Given the description of an element on the screen output the (x, y) to click on. 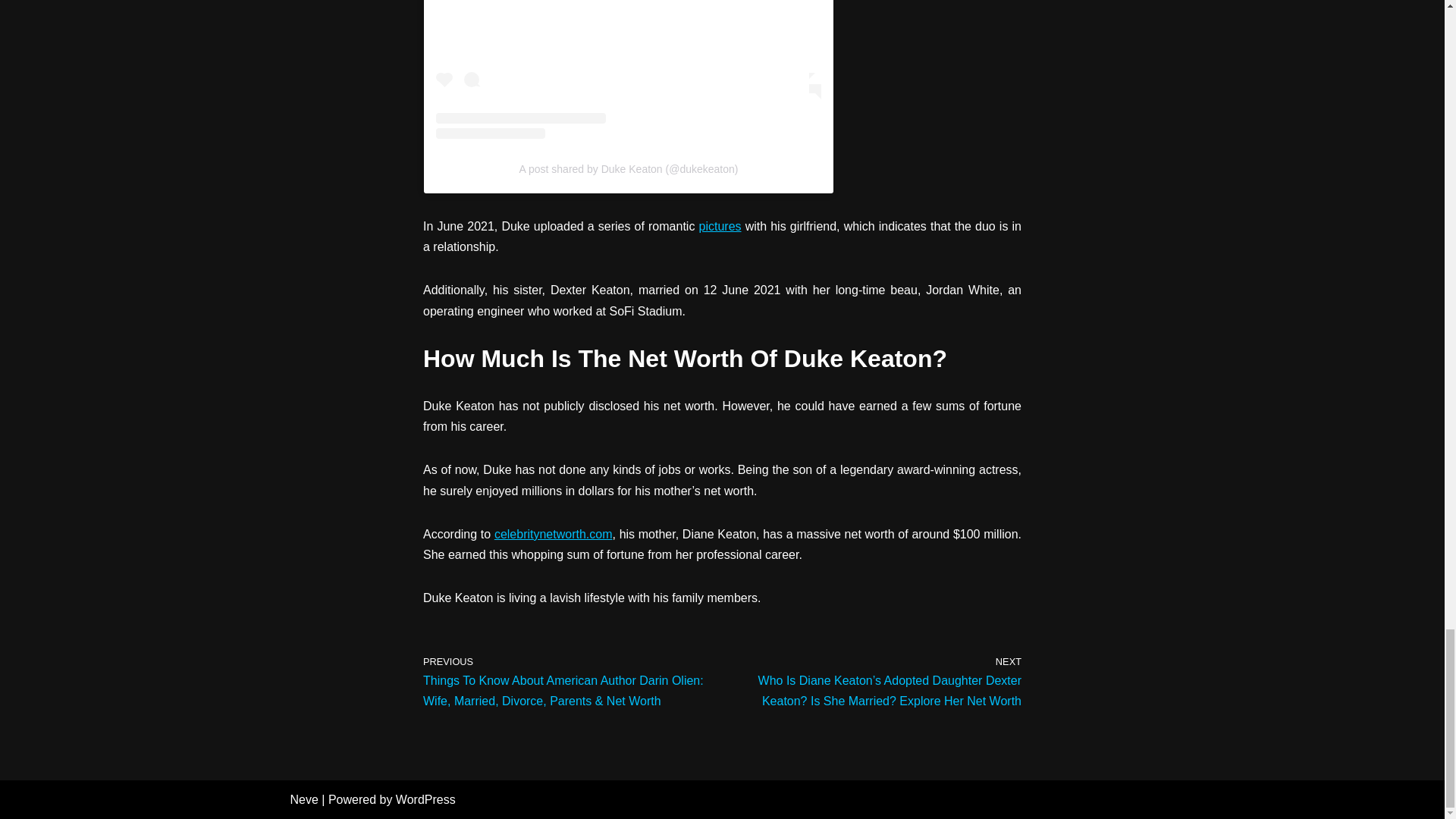
celebritynetworth.com (553, 533)
Neve (303, 799)
pictures (719, 226)
WordPress (425, 799)
